Given the description of an element on the screen output the (x, y) to click on. 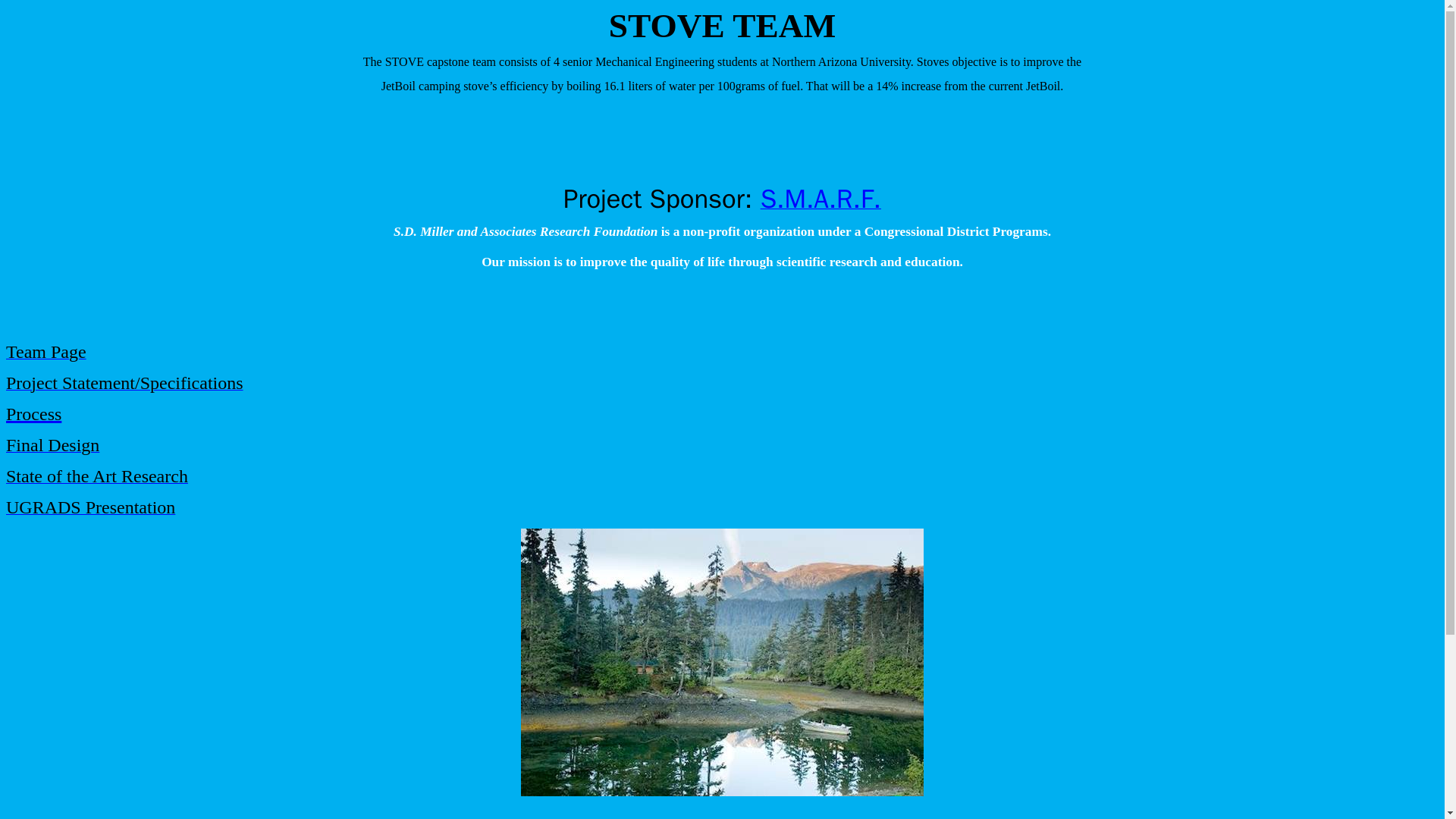
Process (33, 414)
State of the Art Research (96, 478)
S.M.A.R.F. (820, 203)
UGRADS Presentation (89, 509)
Team Page (45, 354)
Final Design (52, 447)
